Given the description of an element on the screen output the (x, y) to click on. 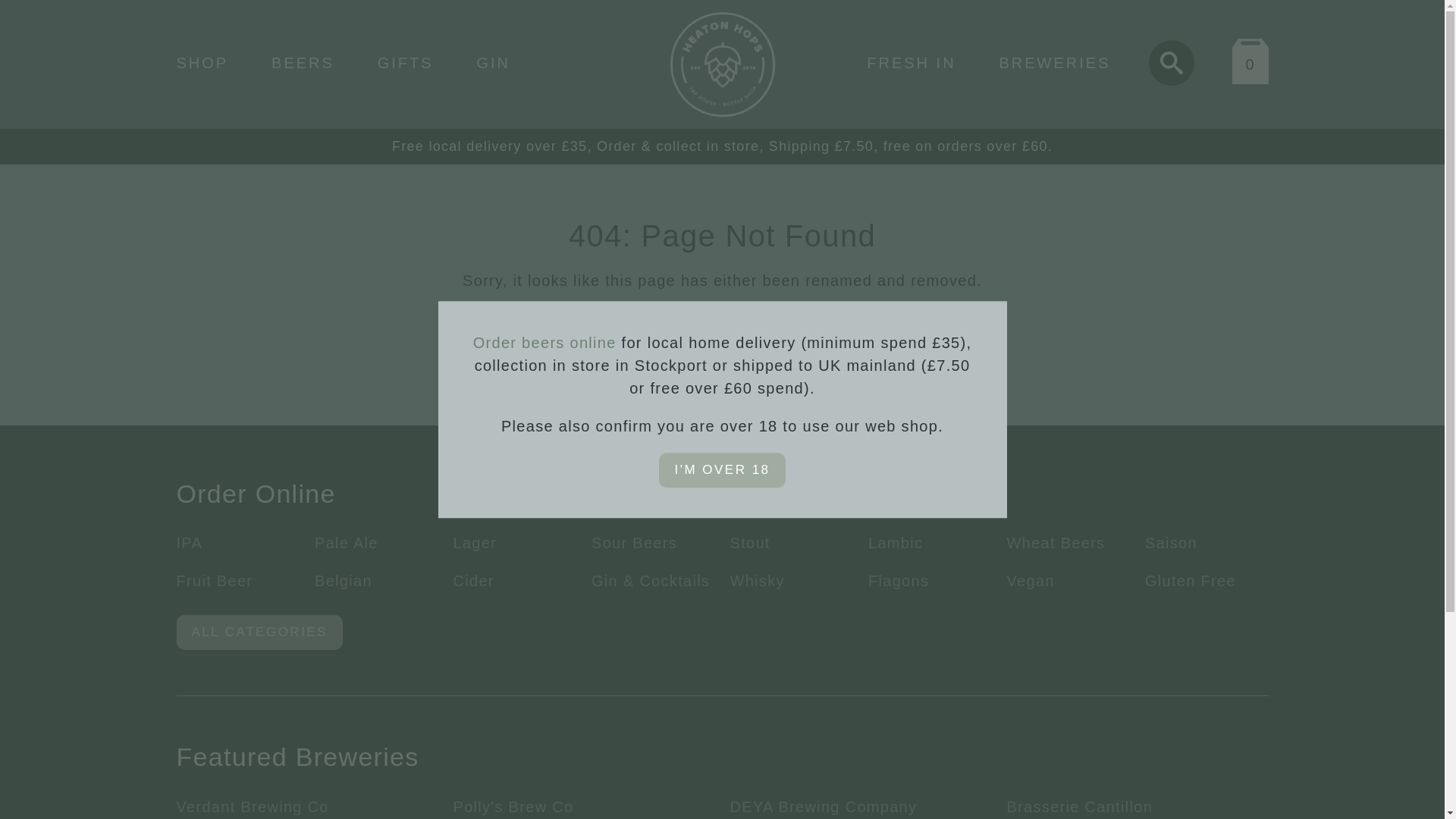
GIN (493, 62)
RETURN TO HOME PAGE (721, 324)
Cider (473, 580)
Brasserie Cantillon (1080, 806)
Wheat Beers (1056, 542)
Vegan (1030, 580)
Gluten Free (1190, 580)
Lambic (895, 542)
Verdant Brewing Co (252, 806)
Flagons (897, 580)
